Given the description of an element on the screen output the (x, y) to click on. 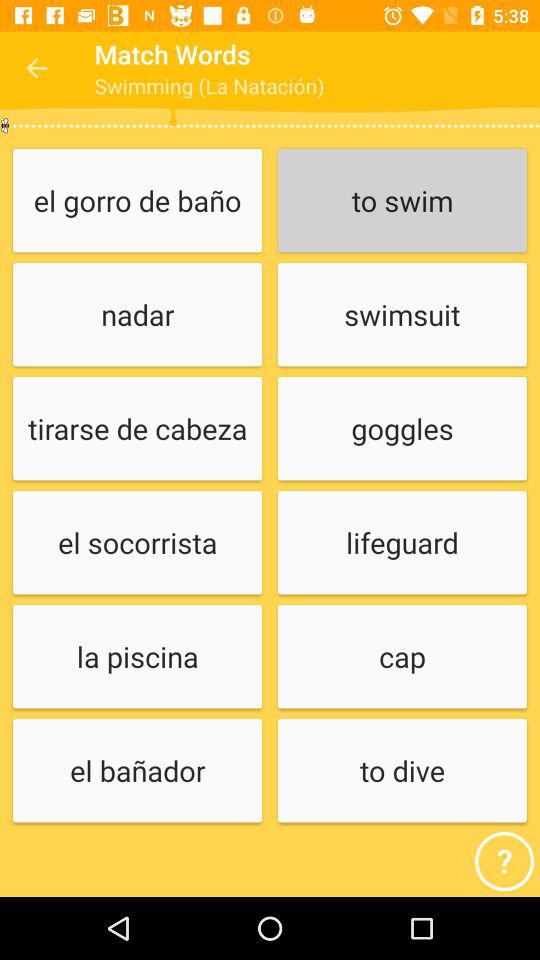
swipe until the el socorrista (137, 543)
